Given the description of an element on the screen output the (x, y) to click on. 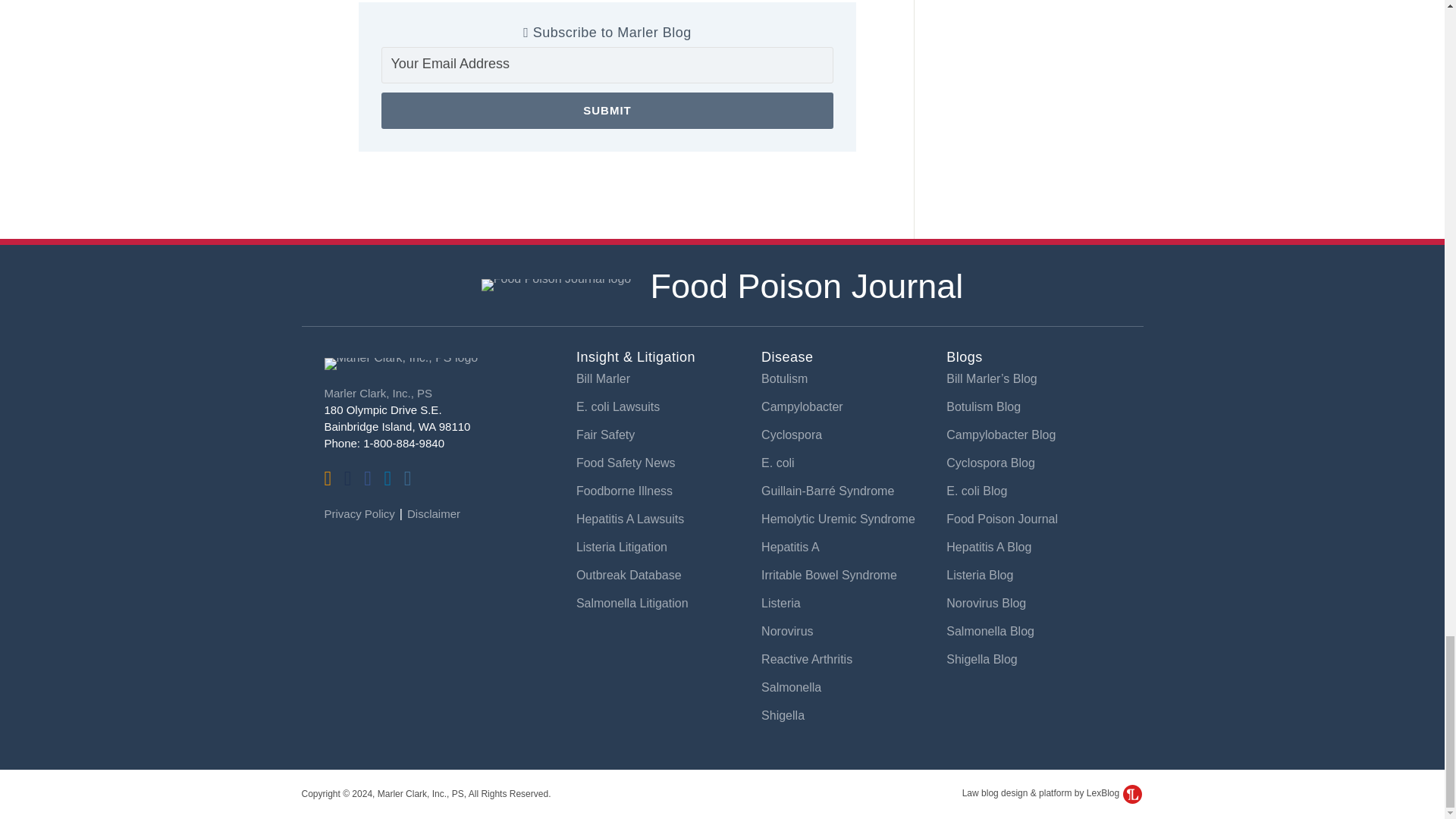
LexBlog Logo (1131, 793)
Submit (606, 110)
